Given the description of an element on the screen output the (x, y) to click on. 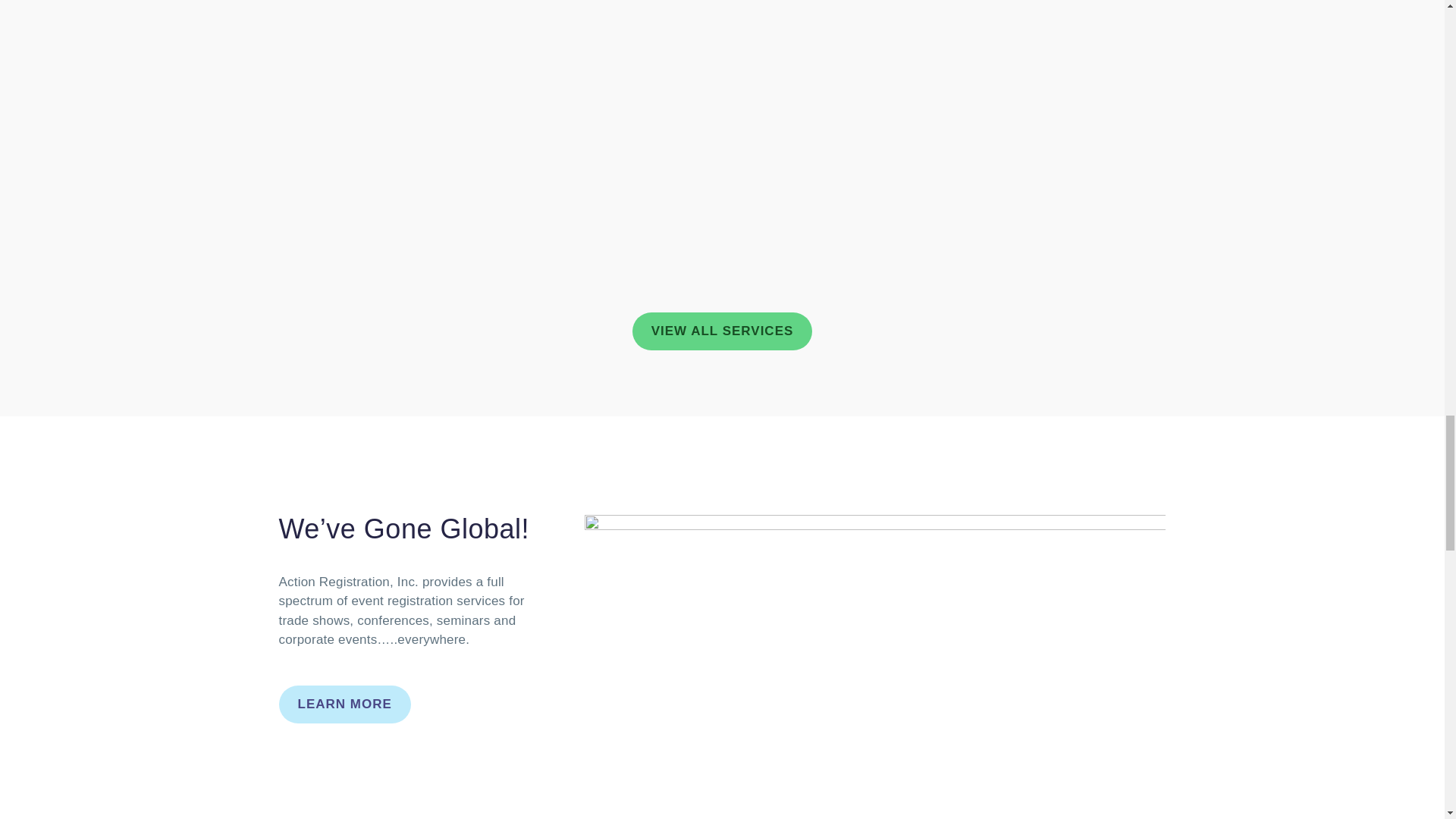
LEARN MORE (344, 704)
VIEW ALL SERVICES (721, 331)
